Given the description of an element on the screen output the (x, y) to click on. 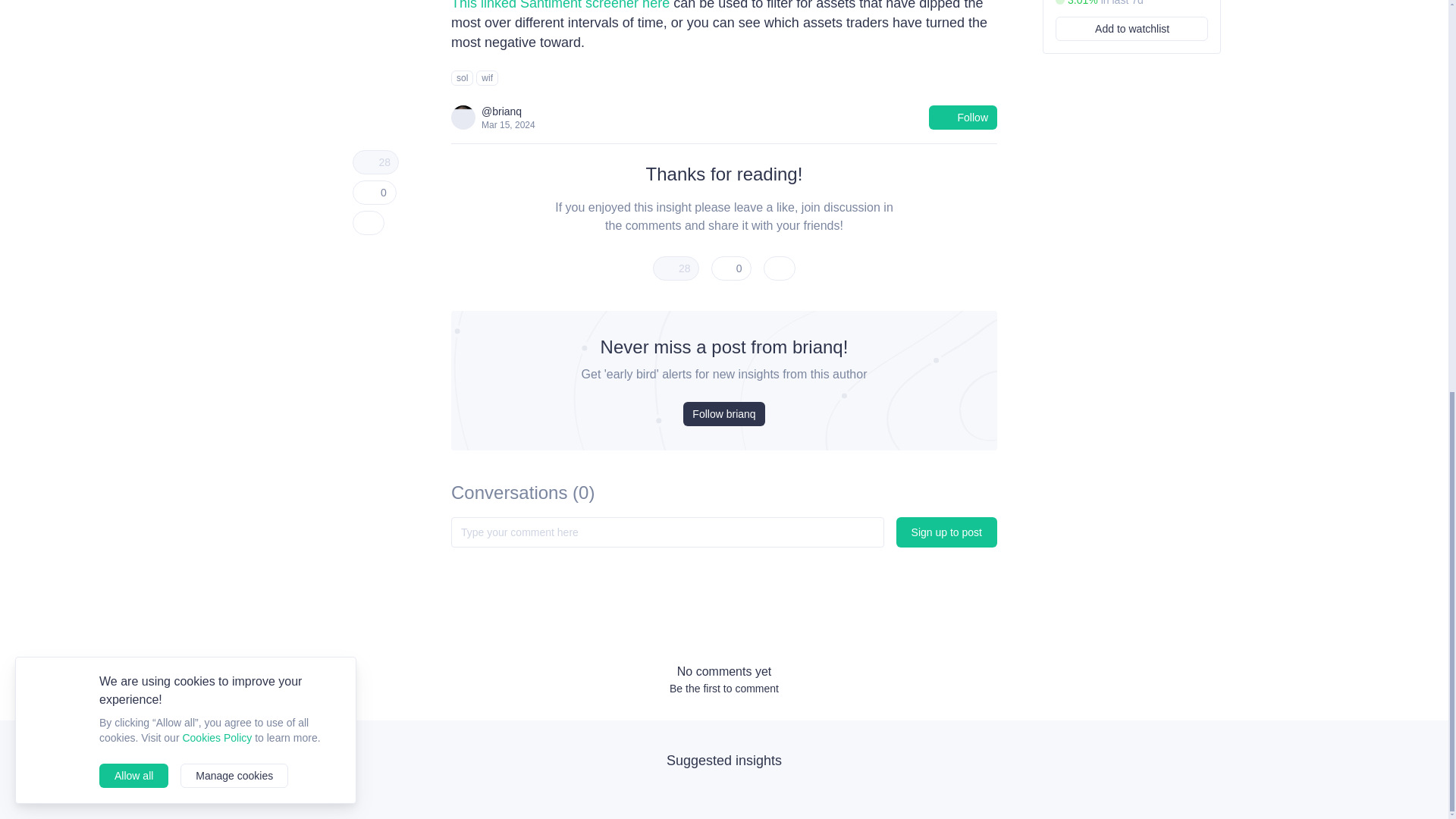
Sign up to post (946, 531)
sol (462, 77)
This linked Santiment screener here (560, 5)
wif (486, 77)
28 (675, 268)
Follow (962, 117)
Follow brianq (723, 413)
0 (731, 268)
Manage cookies (234, 25)
Allow all (133, 25)
